Given the description of an element on the screen output the (x, y) to click on. 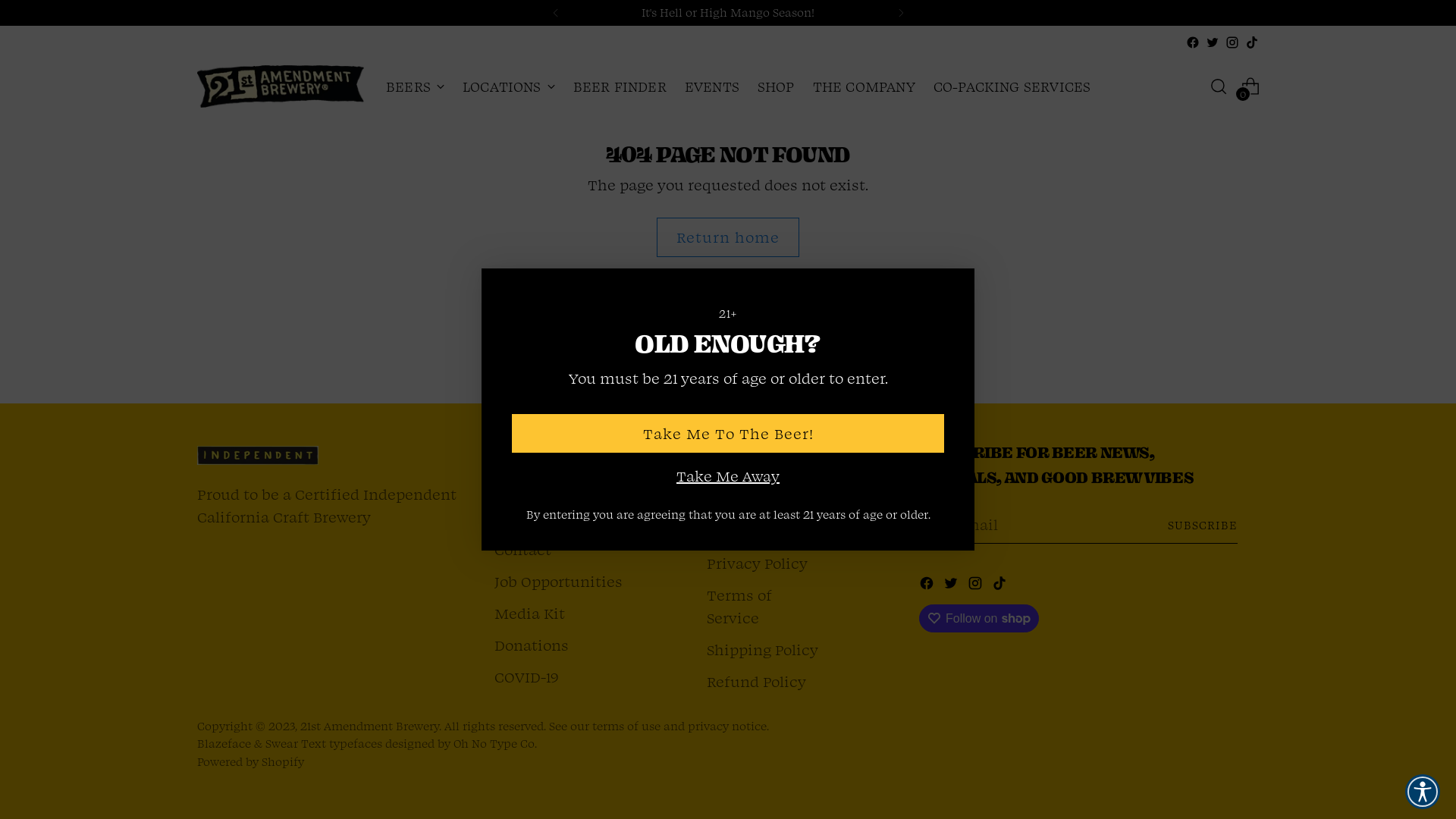
0 Element type: text (1250, 86)
COVID-19 Element type: text (526, 676)
Take Me To The Beer! Element type: text (727, 433)
Refund Policy Element type: text (756, 680)
Return home Element type: text (727, 237)
CO-PACKING SERVICES Element type: text (1012, 86)
Contact Element type: text (522, 548)
21st Amendment Brewery on Twitter Element type: hover (1212, 42)
Co-Packing Services Element type: text (567, 485)
Powered by Shopify Element type: text (250, 760)
Shipping Policy Element type: text (762, 649)
Next Element type: hover (900, 12)
21st Amendment Brewery on Facebook Element type: hover (928, 585)
BEERS Element type: text (414, 86)
21st Amendment Brewery on Tiktok Element type: hover (1251, 42)
21st Amendment Brewery on Instagram Element type: hover (1232, 42)
21st Amendment Brewery on Instagram Element type: hover (976, 585)
BEER FINDER Element type: text (619, 86)
LOCATIONS Element type: text (508, 86)
SUBSCRIBE Element type: text (1202, 524)
THE COMPANY Element type: text (863, 86)
Previous Element type: hover (554, 12)
21st Amendment Brewery on Facebook Element type: hover (1192, 42)
Swear Text Element type: text (295, 742)
Terms of Service Element type: text (738, 606)
Privacy Policy Element type: text (756, 562)
Job Opportunities Element type: text (558, 580)
21st Amendment Brewery Element type: text (369, 725)
21st Amendment Brewery on Twitter Element type: hover (952, 585)
Donations Element type: text (531, 644)
Do not sell my personal information Element type: text (757, 508)
Blazeface Element type: text (224, 742)
Search Element type: text (518, 517)
Media Kit Element type: text (529, 612)
EVENTS Element type: text (711, 86)
21st Amendment Brewery on Tiktok Element type: hover (1000, 585)
Oh No Type Co. Element type: text (494, 742)
SHOP Element type: text (775, 86)
See what's new Element type: text (845, 11)
Take Me Away Element type: text (727, 475)
